Given the description of an element on the screen output the (x, y) to click on. 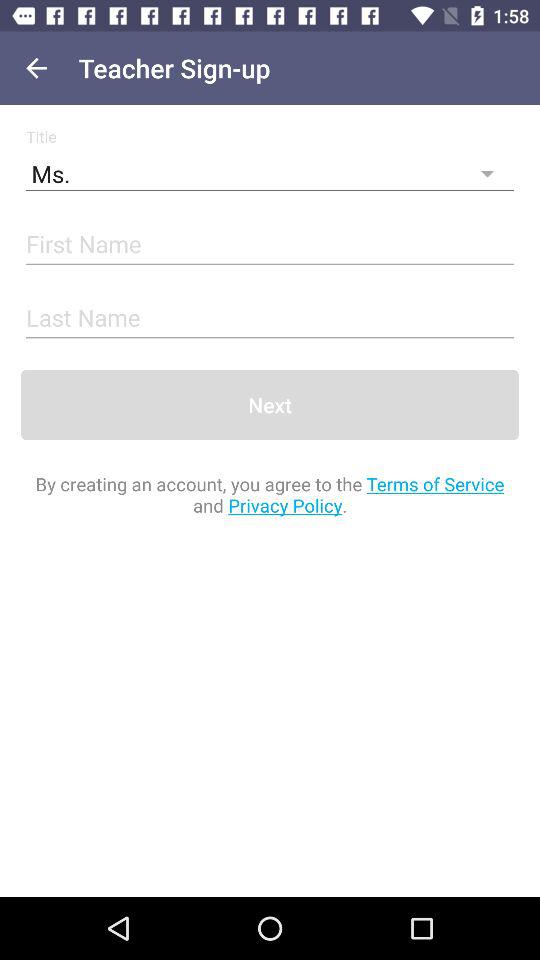
enter first name (270, 245)
